Given the description of an element on the screen output the (x, y) to click on. 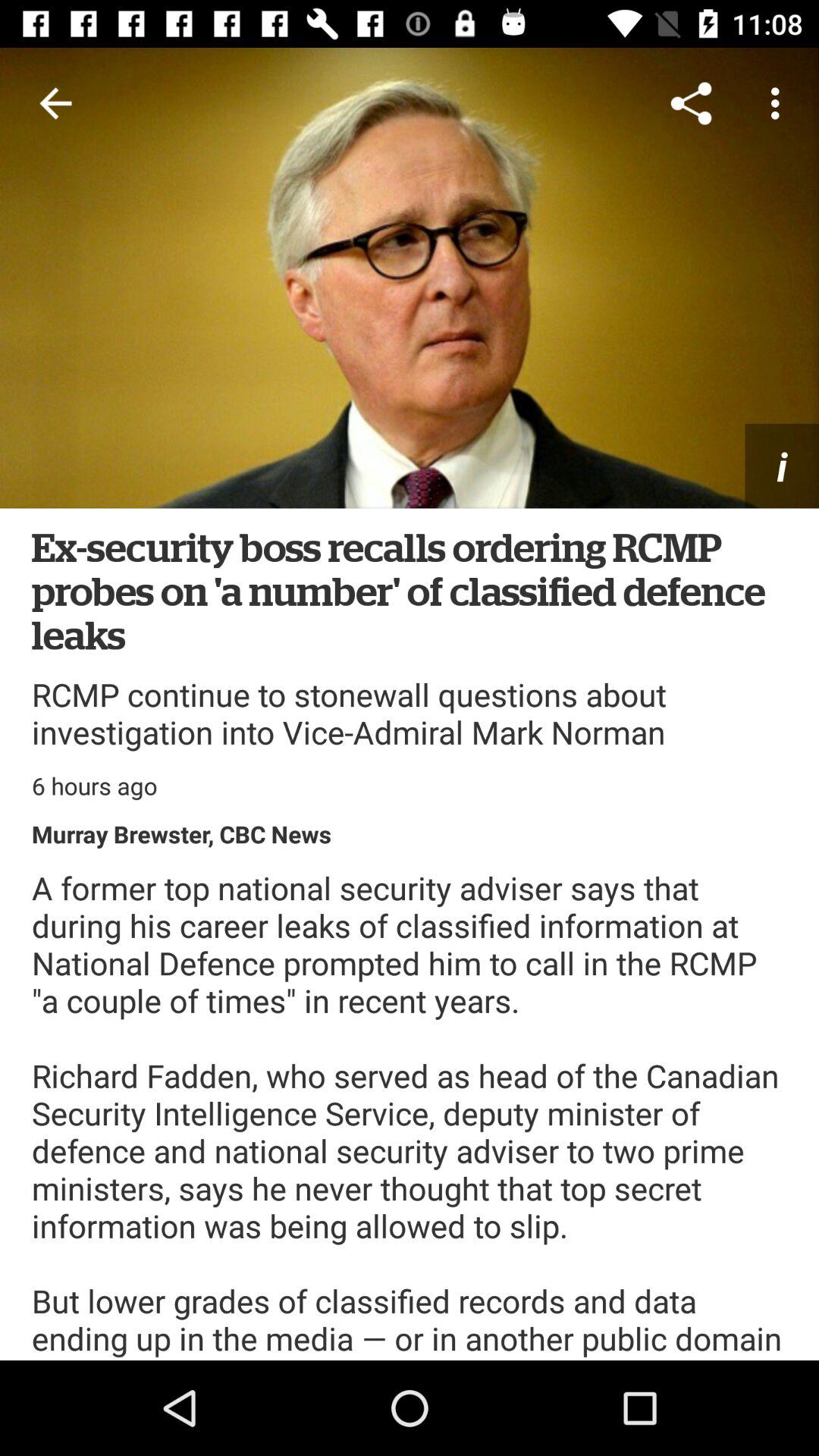
flip until a former top (409, 1113)
